Given the description of an element on the screen output the (x, y) to click on. 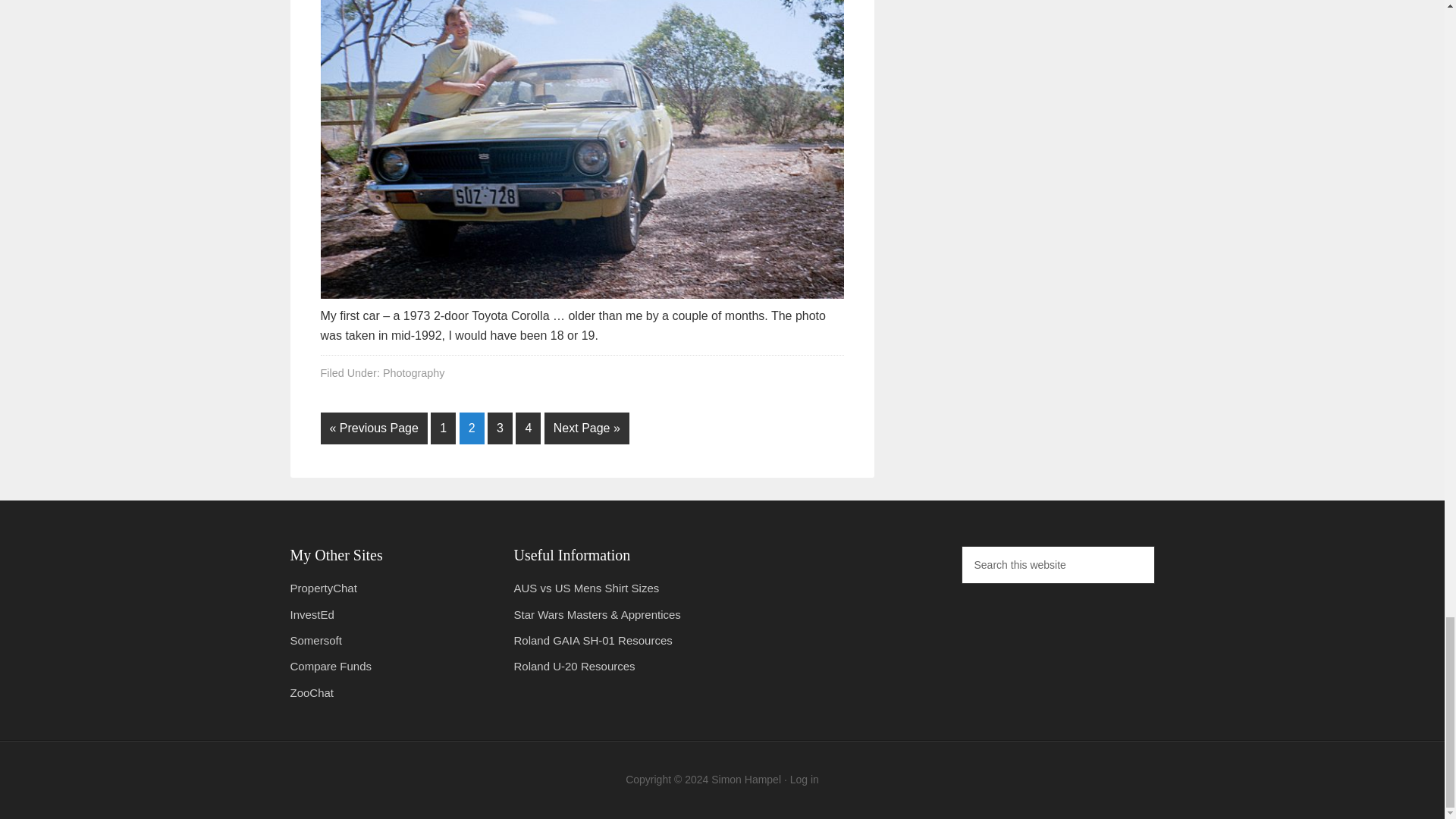
Investor Education (311, 614)
Compare Managed Funds and ETFs (330, 666)
Analysis of Tweets by Australian MPs (322, 587)
